Given the description of an element on the screen output the (x, y) to click on. 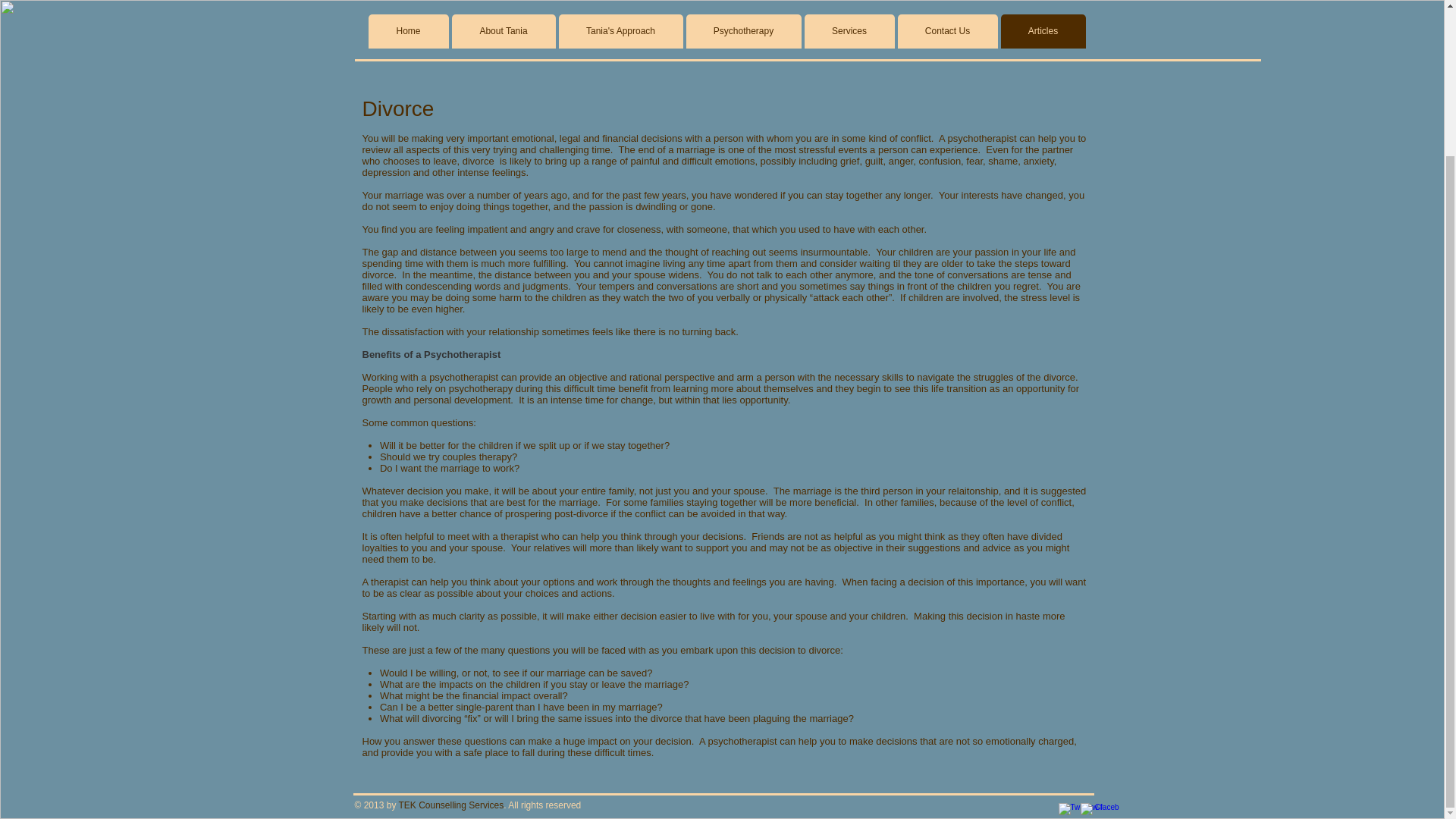
Home (408, 31)
Tania's Approach (619, 31)
Articles (1043, 31)
About Tania (503, 31)
Contact Us (947, 31)
Psychotherapy (742, 31)
Services (848, 31)
